Given the description of an element on the screen output the (x, y) to click on. 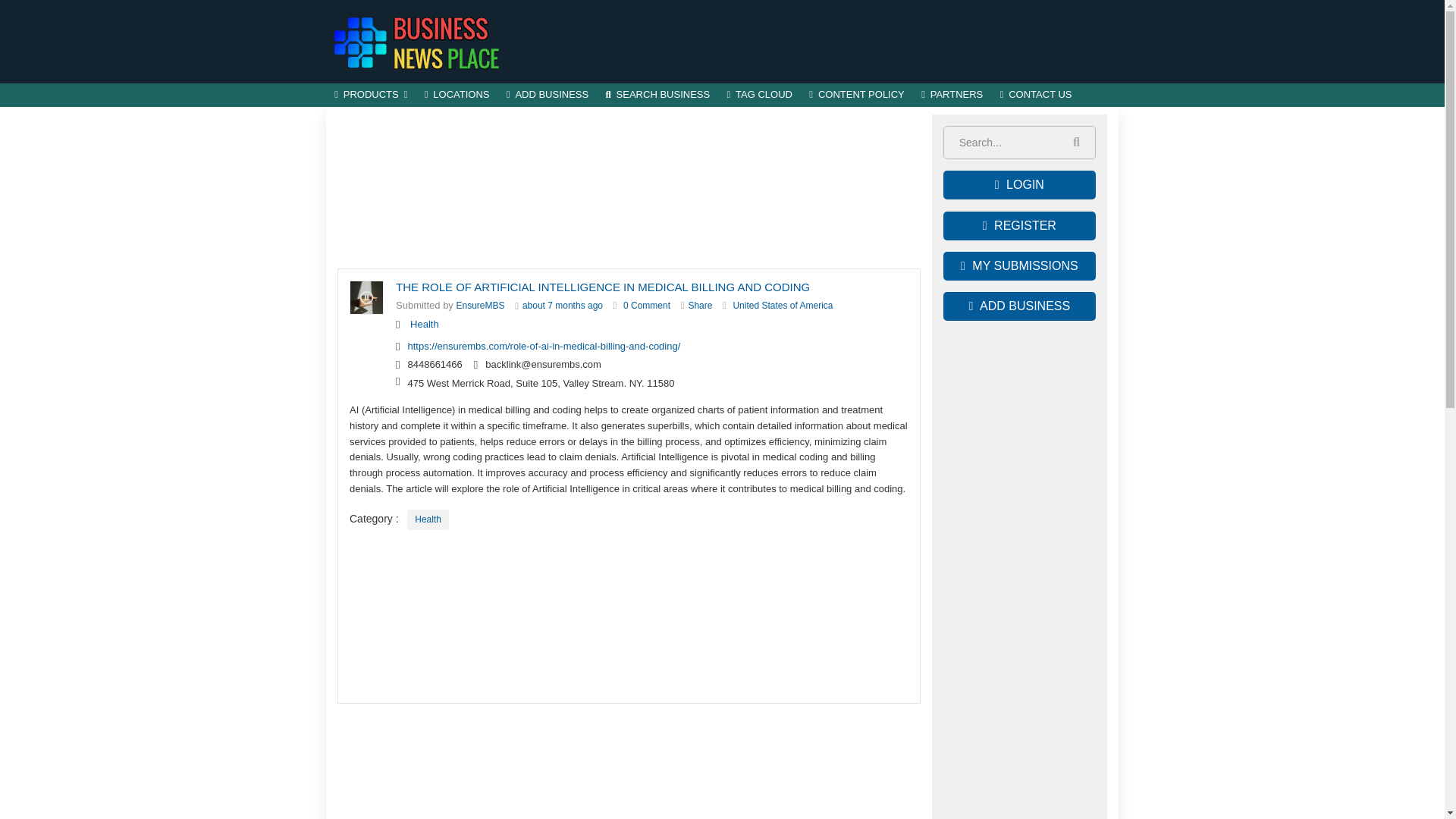
MY SUBMISSIONS (1019, 265)
LOGIN (1019, 184)
PARTNERS (951, 95)
EnsureMBS (481, 305)
United States of America (782, 305)
ADD BUSINESS (546, 95)
United States of America (782, 305)
LOCATIONS (456, 95)
REGISTER (1019, 225)
Share (699, 305)
